Given the description of an element on the screen output the (x, y) to click on. 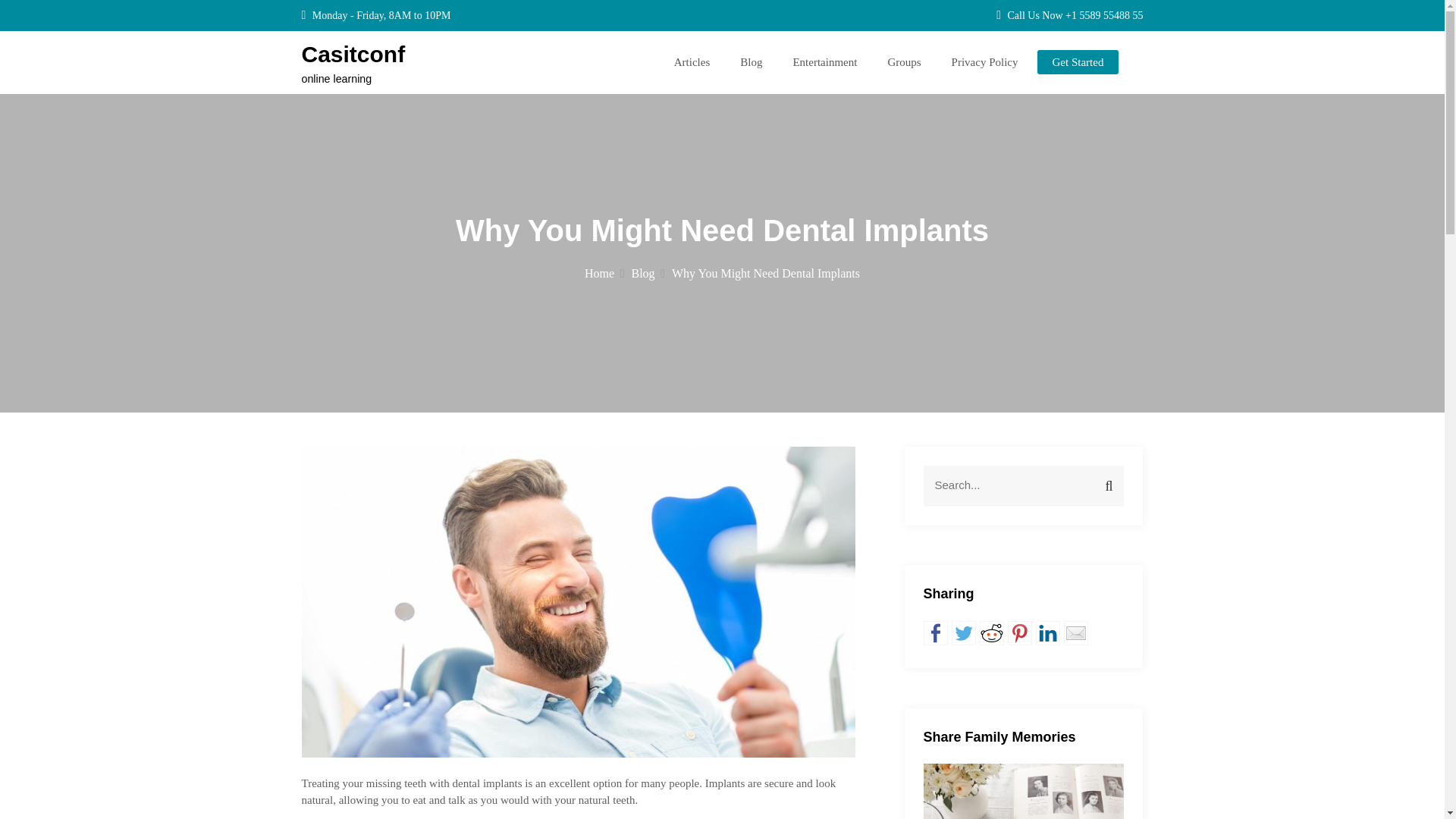
Blog (750, 61)
Share on Twitter (962, 632)
Casitconf (353, 53)
Share on Facebook (935, 632)
Share on Linkedin (1047, 632)
Pin it with Pinterest (1018, 632)
Share by email (1074, 632)
Get Started (1077, 61)
Share on Reddit (991, 632)
Home (604, 273)
Privacy Policy (984, 61)
Groups (903, 61)
Articles (692, 61)
Entertainment (824, 61)
Blog (646, 273)
